Given the description of an element on the screen output the (x, y) to click on. 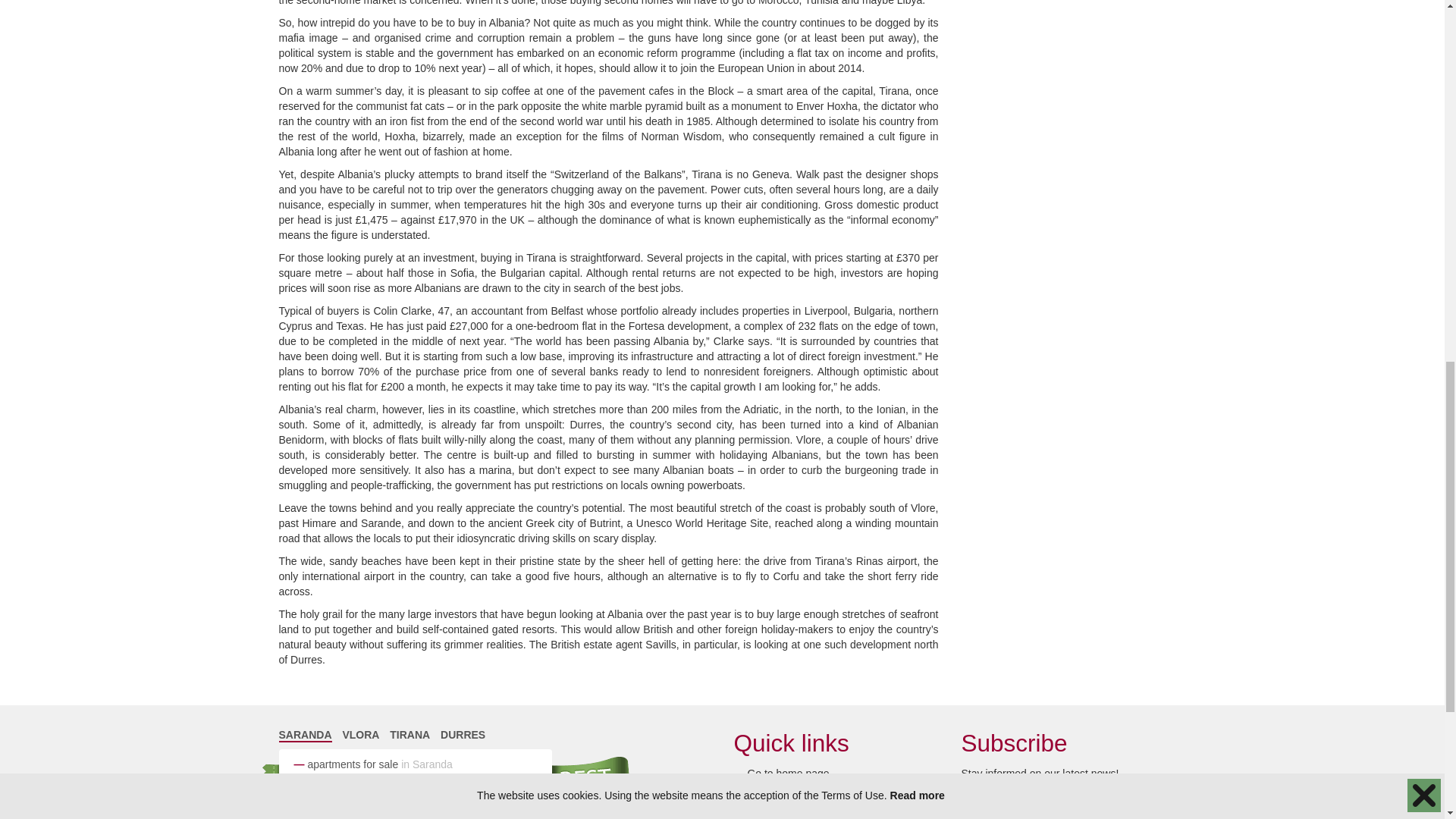
1 (965, 798)
